Given the description of an element on the screen output the (x, y) to click on. 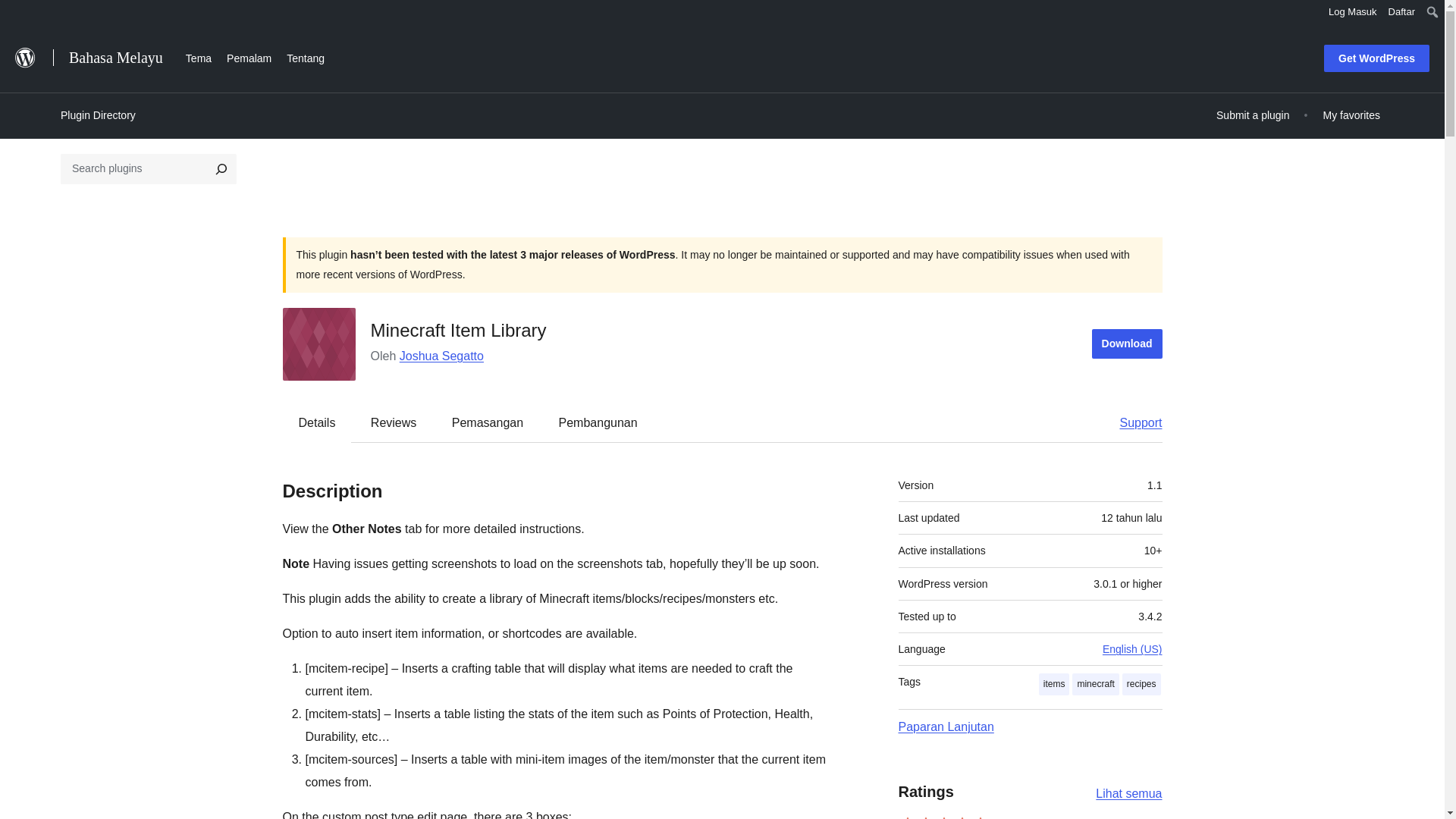
My favorites (1351, 115)
Daftar (1402, 12)
Log Masuk (1353, 12)
Pemalam (249, 56)
Reviews (392, 422)
Joshua Segatto (440, 355)
Get WordPress (1376, 58)
Pemasangan (487, 422)
Support (1132, 422)
Submit a plugin (1253, 115)
Download (1126, 344)
Plugin Directory (97, 115)
Details (316, 422)
Pembangunan (597, 422)
